Given the description of an element on the screen output the (x, y) to click on. 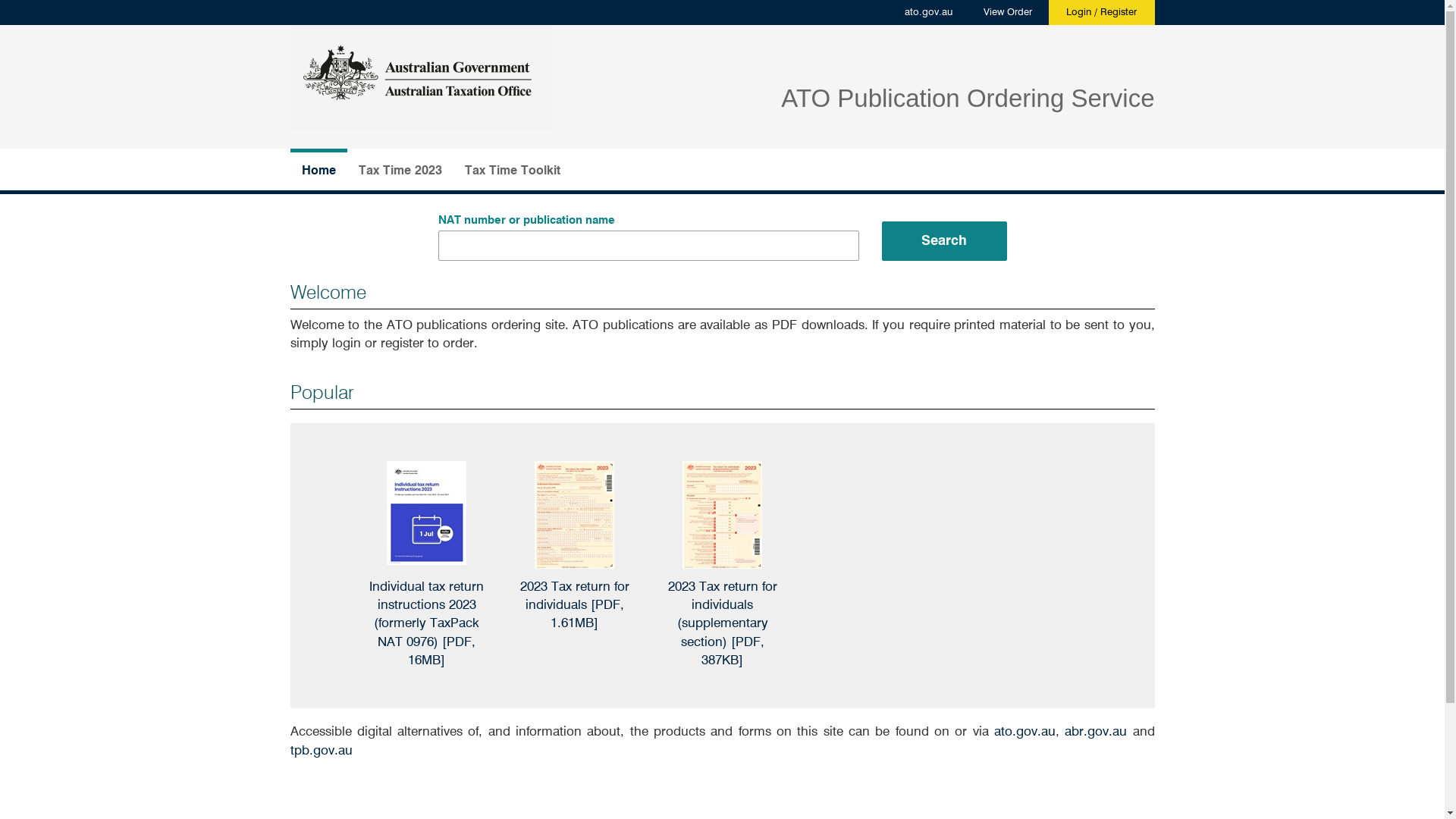
ato.gov.au Element type: text (1024, 731)
Paging Element type: text (26, 11)
Home Element type: text (317, 169)
Tax Time Toolkit Element type: text (512, 169)
ato.gov.au Element type: text (928, 12)
2023 Tax return for individuals [PDF, 1.61MB] Element type: text (574, 605)
Login / Register Element type: text (1101, 12)
Search Element type: text (943, 240)
tpb.gov.au Element type: text (320, 750)
View Order Element type: text (1006, 12)
abr.gov.au Element type: text (1095, 731)
Tax Time 2023 Element type: text (400, 169)
